Given the description of an element on the screen output the (x, y) to click on. 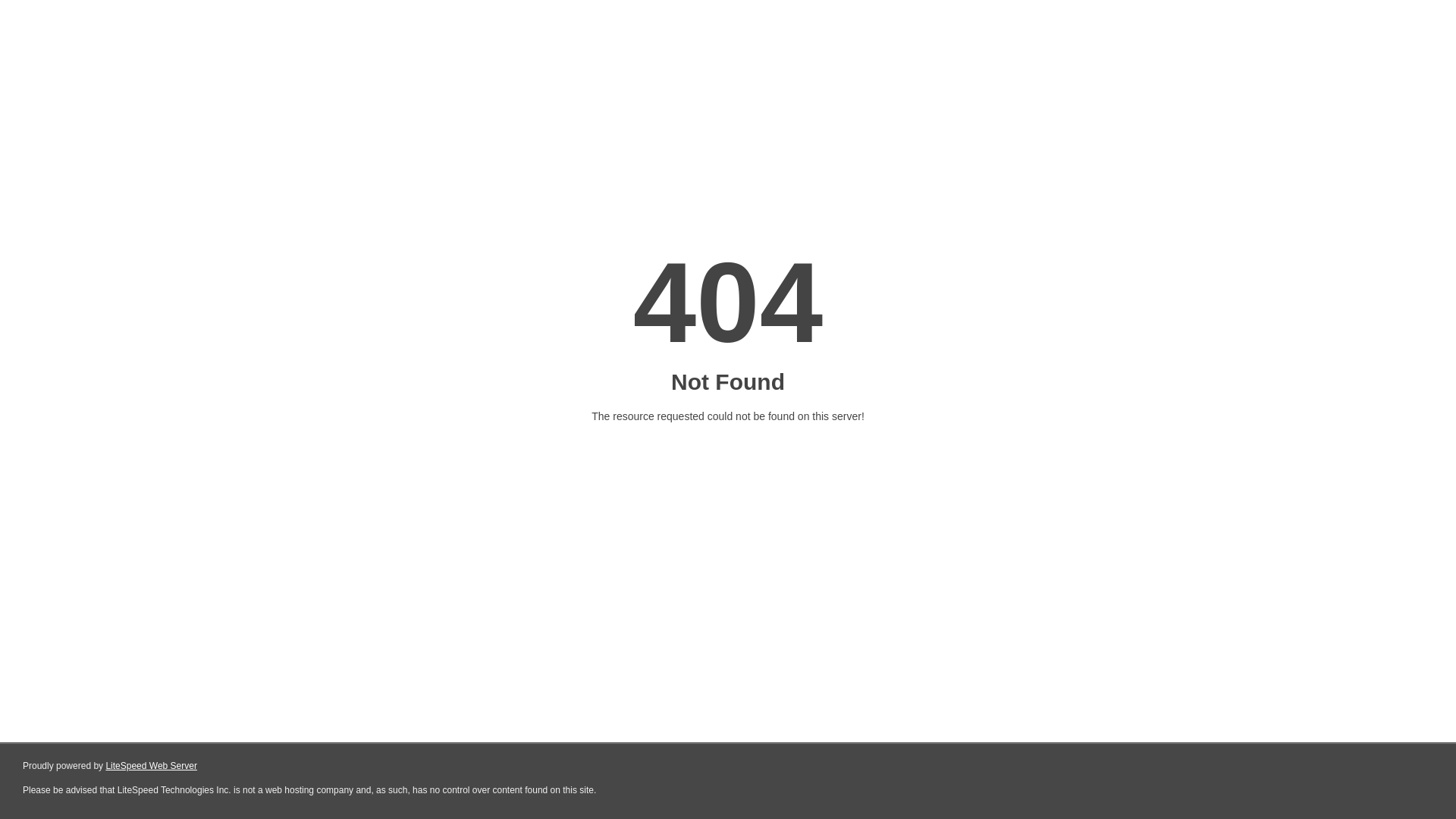
LiteSpeed Web Server Element type: text (151, 765)
